Given the description of an element on the screen output the (x, y) to click on. 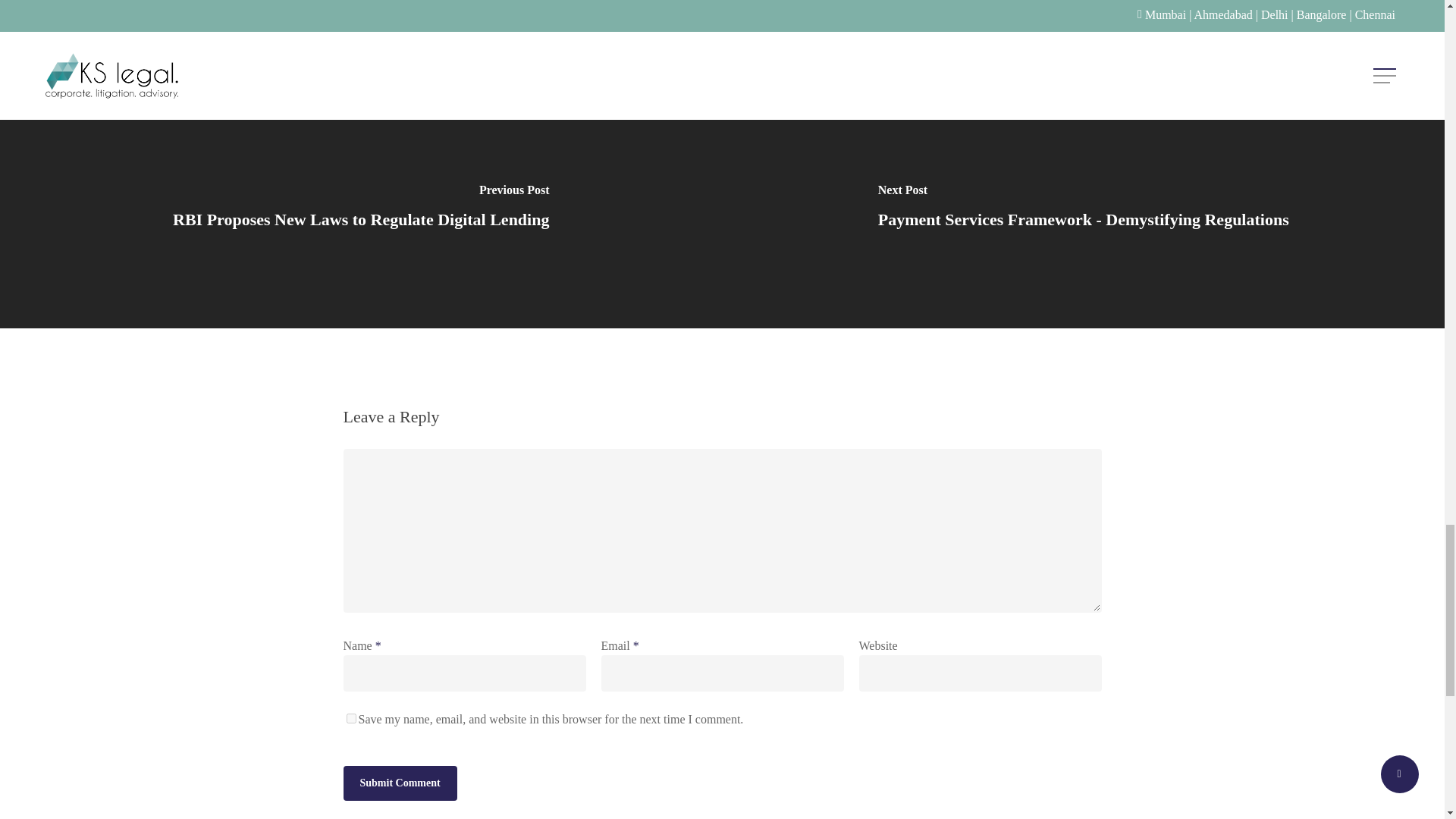
yes (350, 756)
Submit Comment (399, 811)
KS Legal (369, 20)
Submit Comment (399, 811)
